Given the description of an element on the screen output the (x, y) to click on. 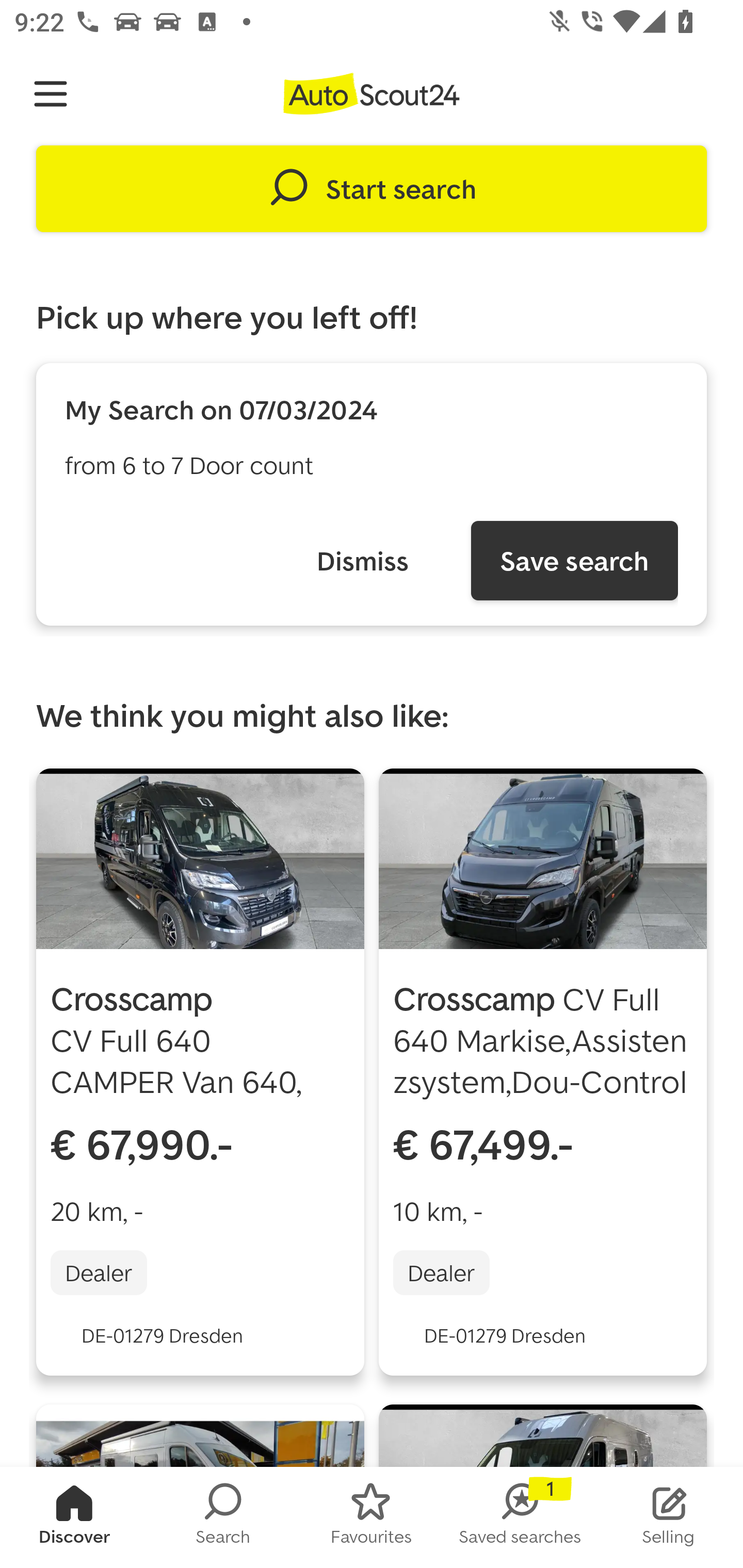
Navigate up (50, 93)
Start search (371, 188)
Dismiss (362, 560)
Save search (574, 560)
HOMESCREEN Discover (74, 1517)
SEARCH Search (222, 1517)
FAVORITES Favourites (371, 1517)
SAVED_SEARCHES Saved searches 1 (519, 1517)
STOCK_LIST Selling (668, 1517)
